Given the description of an element on the screen output the (x, y) to click on. 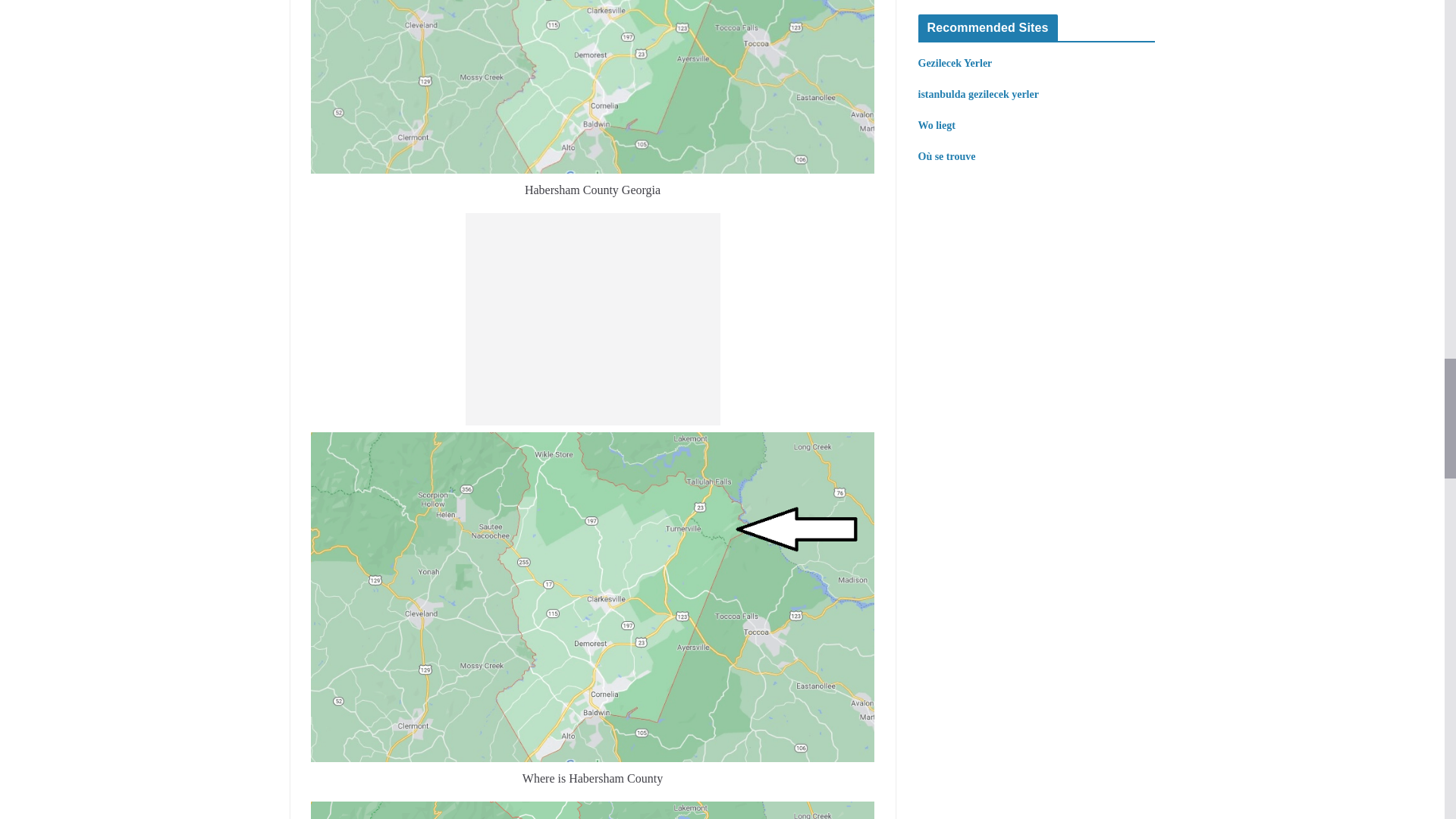
Gezilecek Yerler (954, 62)
istanbulda gezilecek yerler (977, 93)
